Given the description of an element on the screen output the (x, y) to click on. 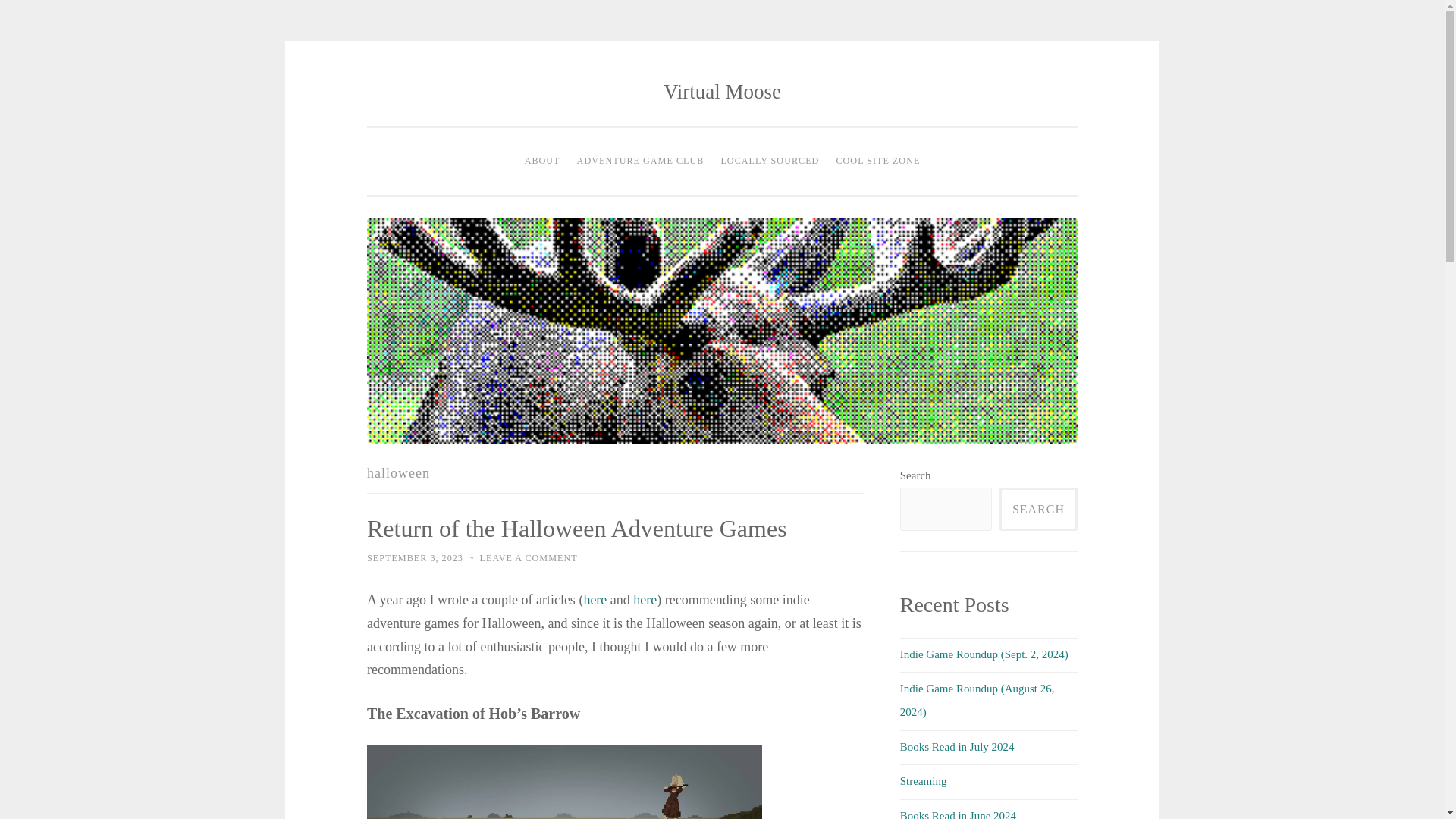
ADVENTURE GAME CLUB (640, 161)
Books Read in July 2024 (956, 746)
Return of the Halloween Adventure Games (576, 528)
COOL SITE ZONE (877, 161)
Books Read in June 2024 (957, 814)
here (644, 599)
Streaming (923, 780)
SEARCH (1037, 508)
ABOUT (542, 161)
LOCALLY SOURCED (769, 161)
